Given the description of an element on the screen output the (x, y) to click on. 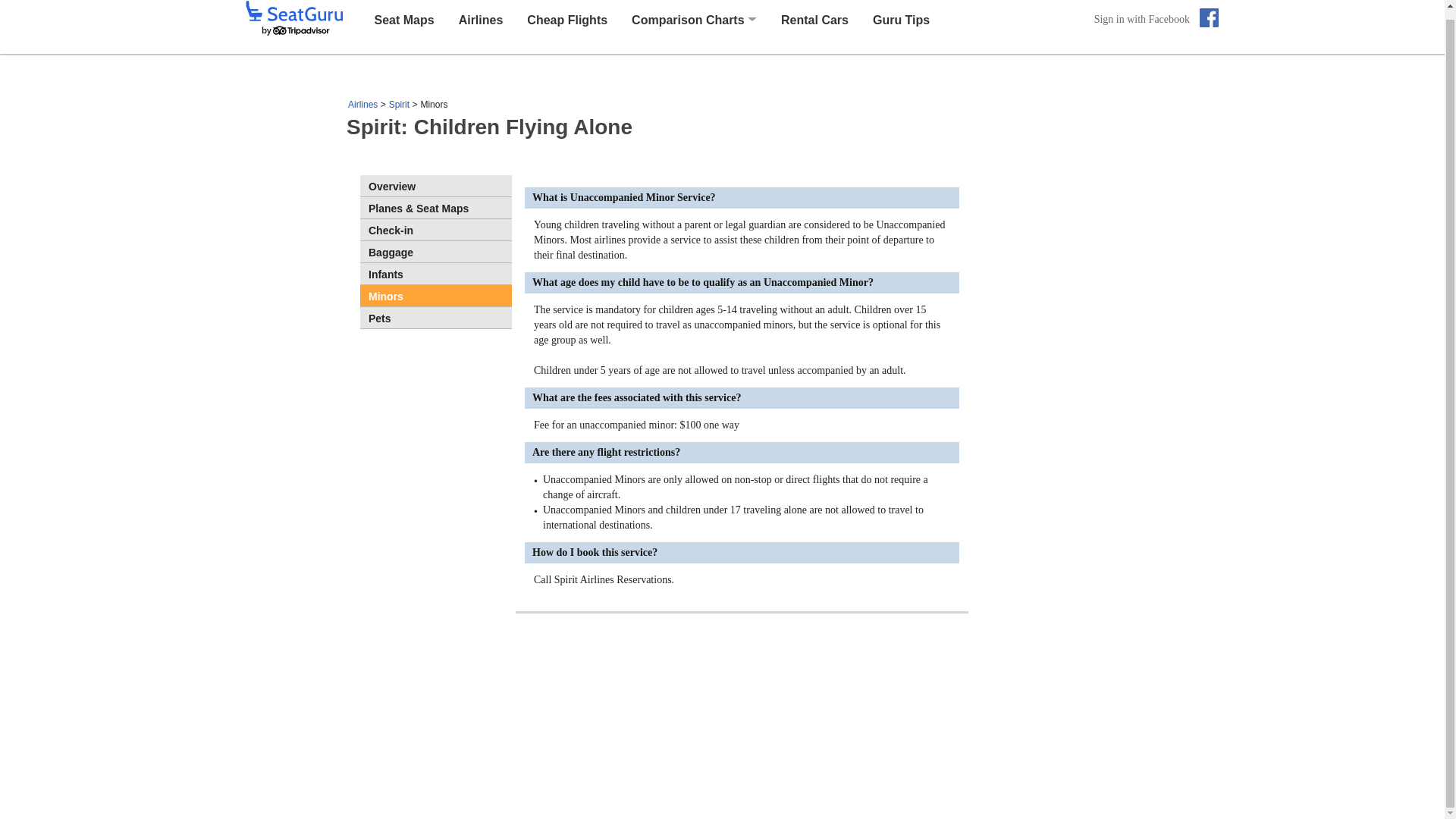
Spirit (398, 104)
Baggage (435, 251)
Seat Maps (403, 19)
Pets (435, 317)
Guru Tips (901, 19)
Comparison Charts (687, 20)
Overview (435, 185)
Check-in (435, 229)
Sign in with Facebook (1156, 19)
Cheap Flights (567, 19)
Infants (435, 273)
Rental Cars (814, 19)
Minors (435, 295)
Airlines (480, 19)
Airlines (362, 104)
